Given the description of an element on the screen output the (x, y) to click on. 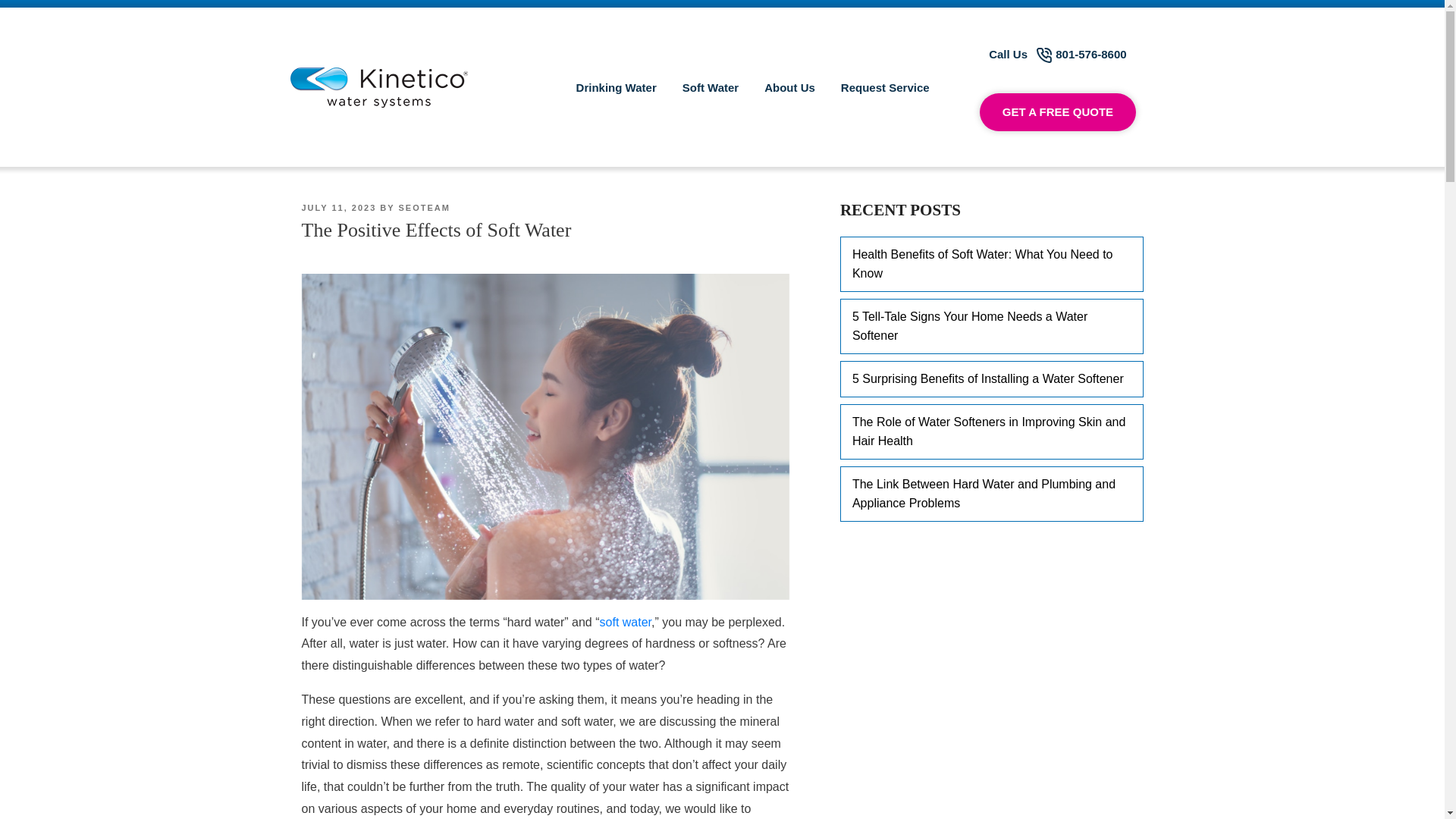
JULY 11, 2023 (339, 207)
Health Benefits of Soft Water: What You Need to Know (991, 263)
Call Us 801-576-8600 (1056, 55)
5 Surprising Benefits of Installing a Water Softener (991, 379)
Soft Water (710, 88)
soft water (624, 621)
About Us (789, 88)
5 Tell-Tale Signs Your Home Needs a Water Softener (991, 325)
Request Service (885, 88)
SEOTEAM (423, 207)
Drinking Water (616, 88)
main-logo (378, 87)
GET A FREE QUOTE (1057, 112)
